Given the description of an element on the screen output the (x, y) to click on. 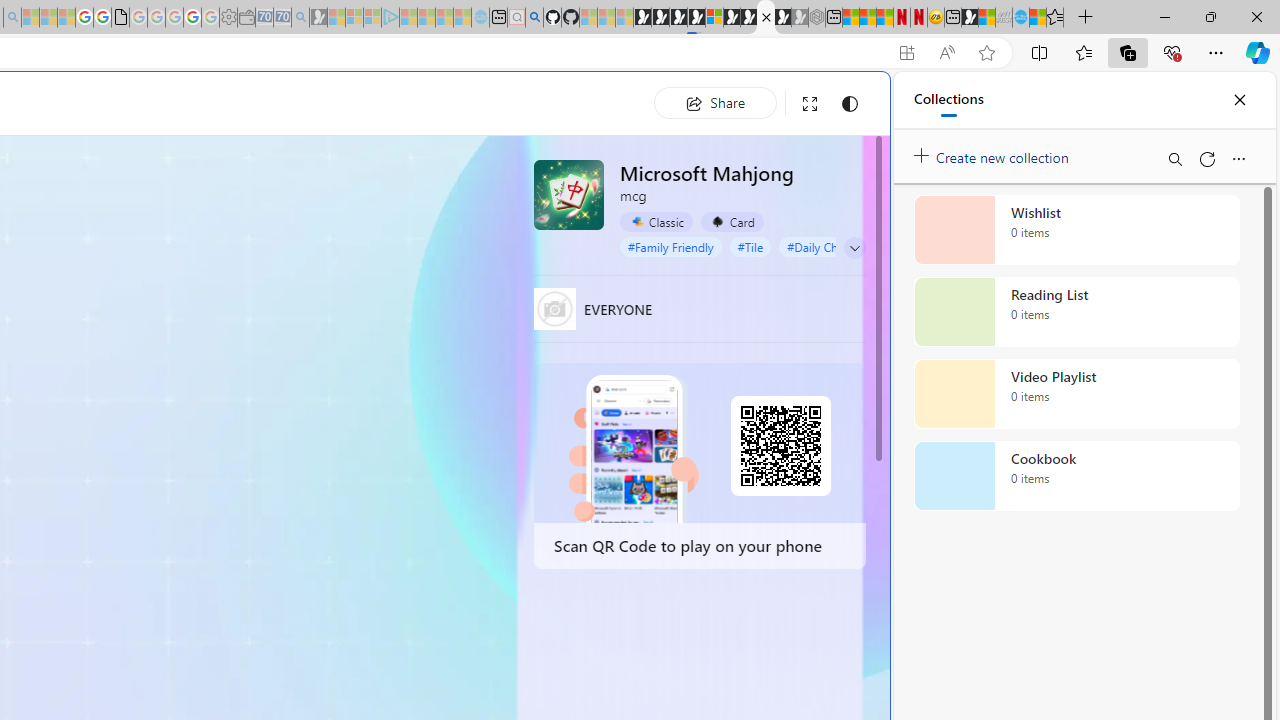
Classic (656, 222)
Reading List collection, 0 items (1076, 312)
Frequently visited (418, 265)
Share (715, 102)
